Given the description of an element on the screen output the (x, y) to click on. 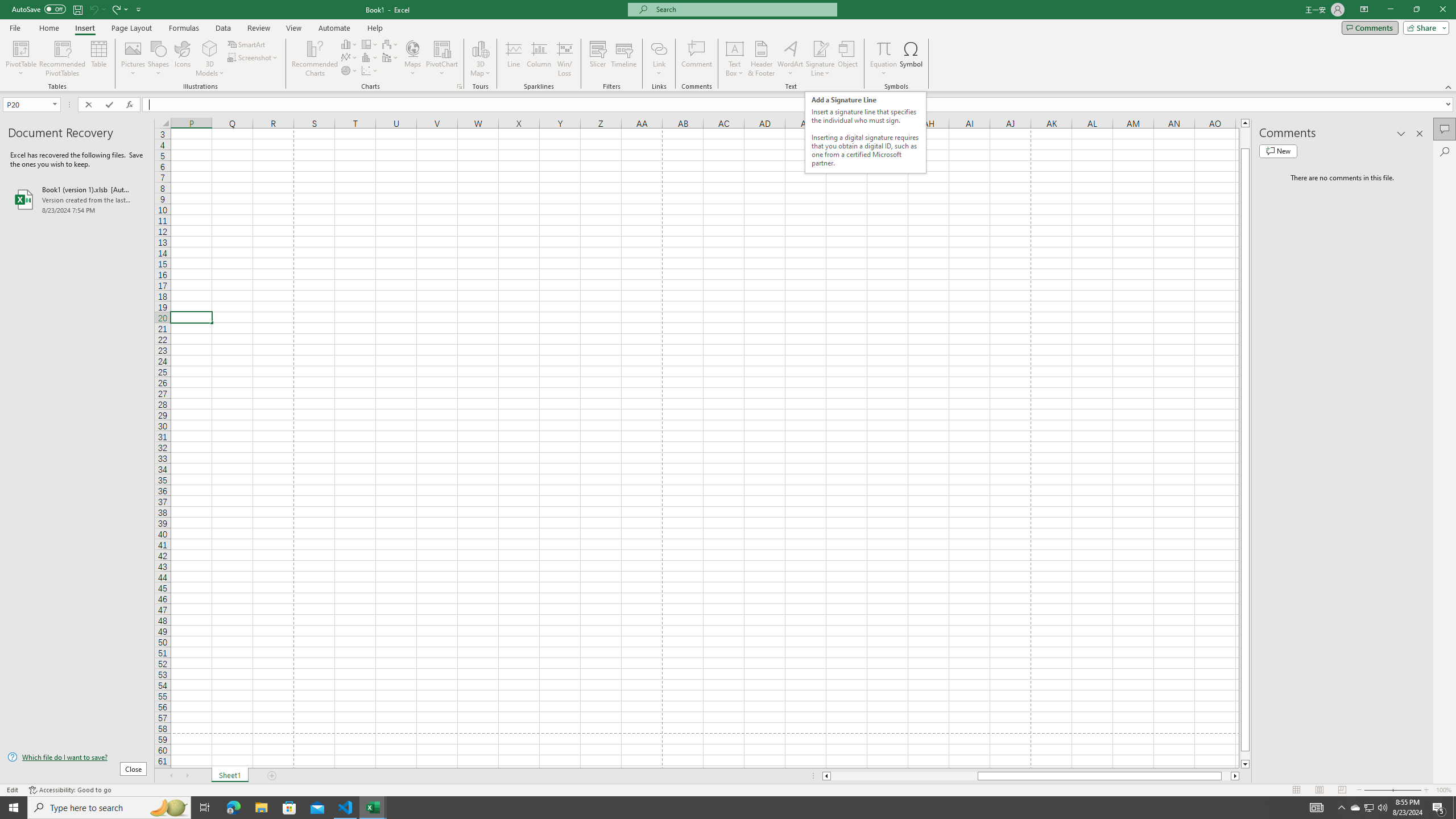
Header & Footer... (761, 58)
PivotTable (20, 58)
WordArt (790, 58)
3D Models (210, 48)
SmartArt... (247, 44)
Column (539, 58)
Page up (1245, 137)
